Given the description of an element on the screen output the (x, y) to click on. 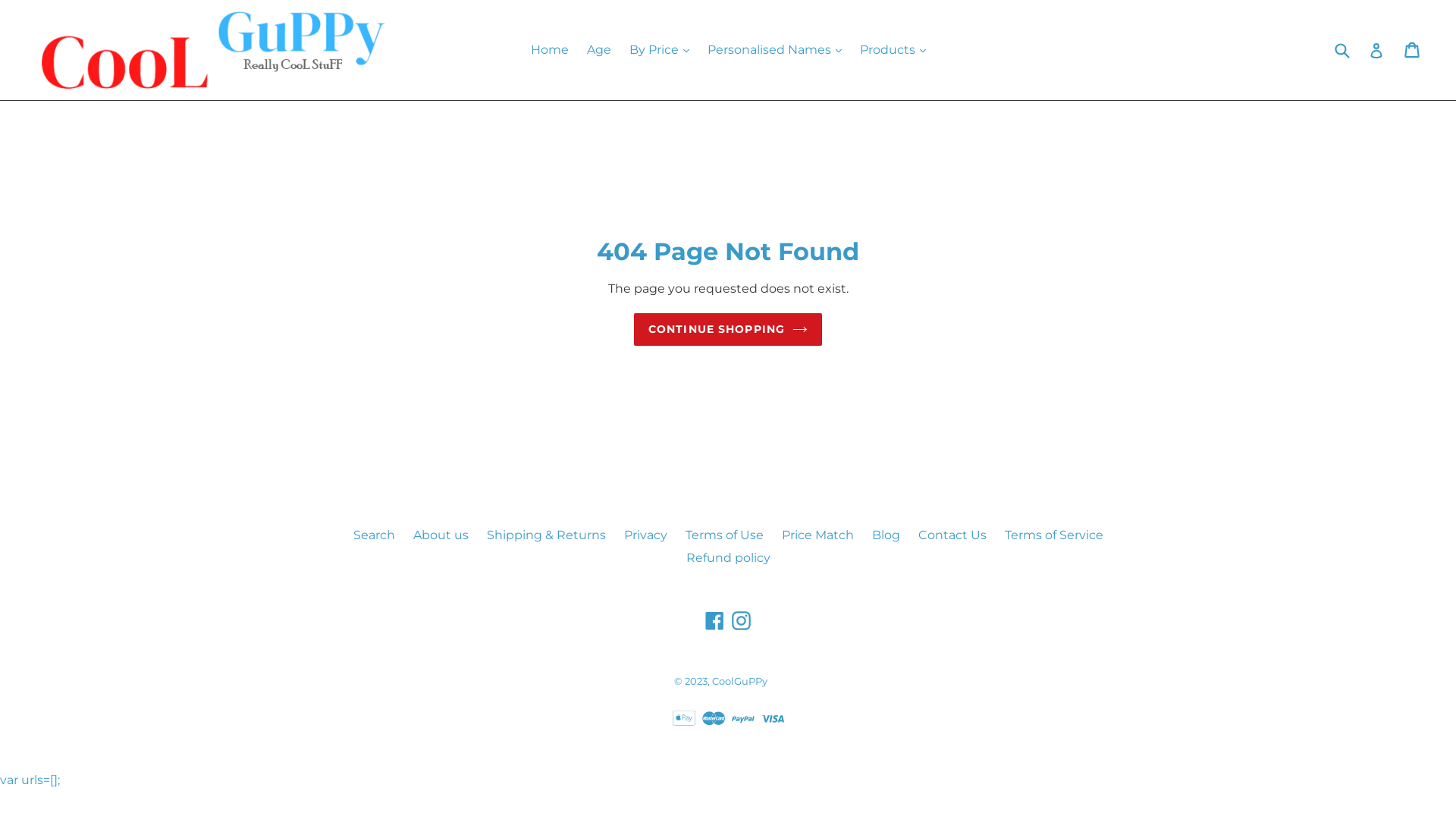
Terms of Service Element type: text (1053, 534)
Cart
Cart Element type: text (1412, 49)
Refund policy Element type: text (727, 557)
Price Match Element type: text (817, 534)
Shipping & Returns Element type: text (545, 534)
CoolGuPPy Element type: text (738, 680)
Home Element type: text (549, 49)
Instagram Element type: text (741, 620)
Blog Element type: text (886, 534)
About us Element type: text (439, 534)
Age Element type: text (598, 49)
Search Element type: text (374, 534)
Facebook Element type: text (714, 620)
Log in Element type: text (1375, 49)
Terms of Use Element type: text (724, 534)
Privacy Element type: text (644, 534)
Submit Element type: text (1341, 49)
CONTINUE SHOPPING Element type: text (727, 329)
Contact Us Element type: text (951, 534)
